Given the description of an element on the screen output the (x, y) to click on. 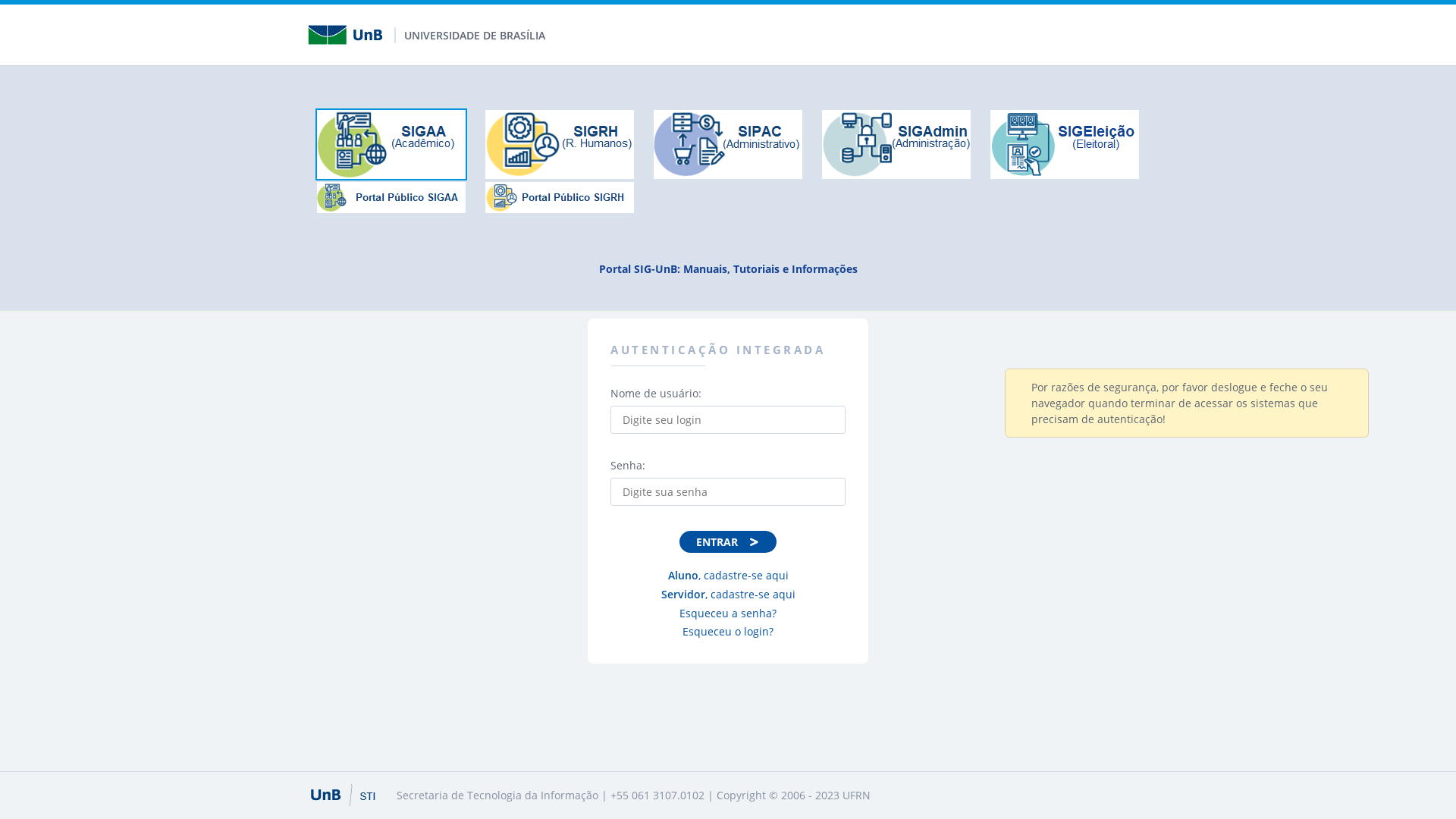
Esqueceu a senha? Element type: text (727, 613)
Ir para o Portal da UnB Element type: hover (350, 34)
ENTRAR Element type: text (728, 541)
Acessar Sistema SIGAA Element type: hover (391, 142)
Esqueceu o login? Element type: text (727, 631)
Aluno, cadastre-se aqui Element type: text (727, 575)
Servidor, cadastre-se aqui Element type: text (727, 594)
Ir para o site da STI Element type: hover (345, 795)
